Given the description of an element on the screen output the (x, y) to click on. 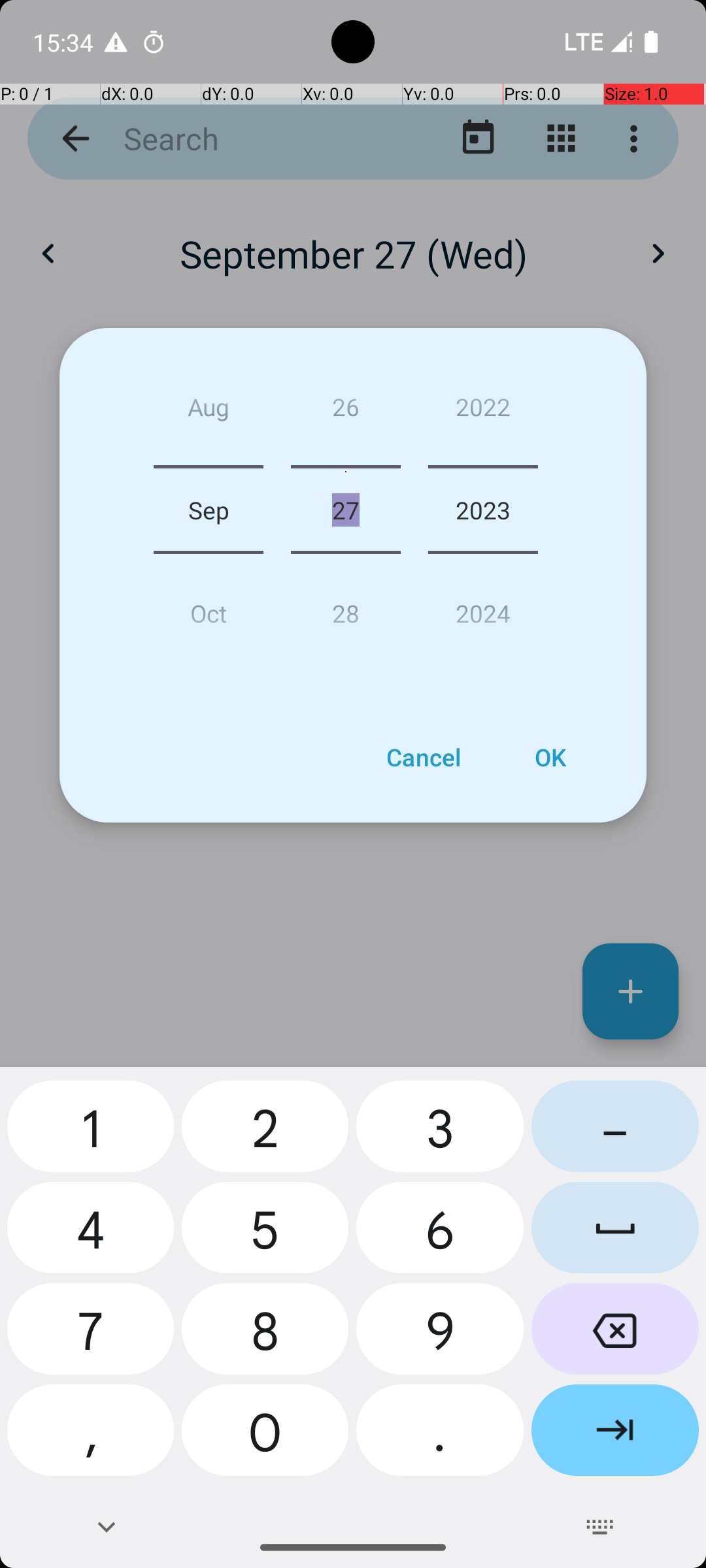
Aug Element type: android.widget.Button (208, 411)
Sep Element type: android.widget.EditText (208, 509)
Oct Element type: android.widget.Button (208, 607)
2022 Element type: android.widget.Button (482, 411)
2024 Element type: android.widget.Button (482, 607)
Dash Element type: android.widget.FrameLayout (614, 1130)
